Given the description of an element on the screen output the (x, y) to click on. 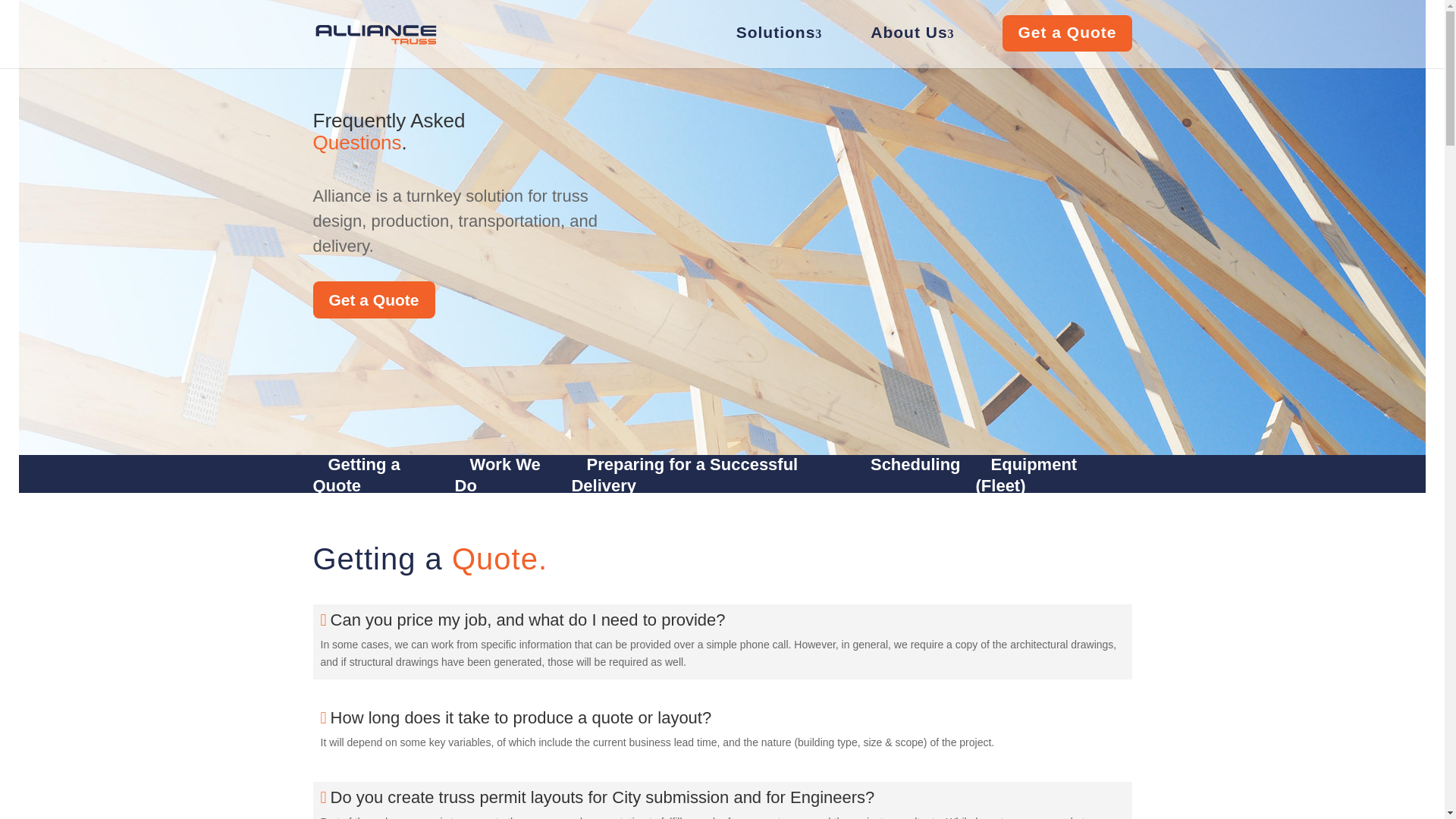
Get a Quote (1067, 33)
Get a Quote (373, 299)
Getting a Quote (355, 474)
Solutions (779, 34)
Preparing for a Successful Delivery (683, 474)
About Us (911, 34)
Scheduling (915, 464)
Work We Do (497, 474)
